Given the description of an element on the screen output the (x, y) to click on. 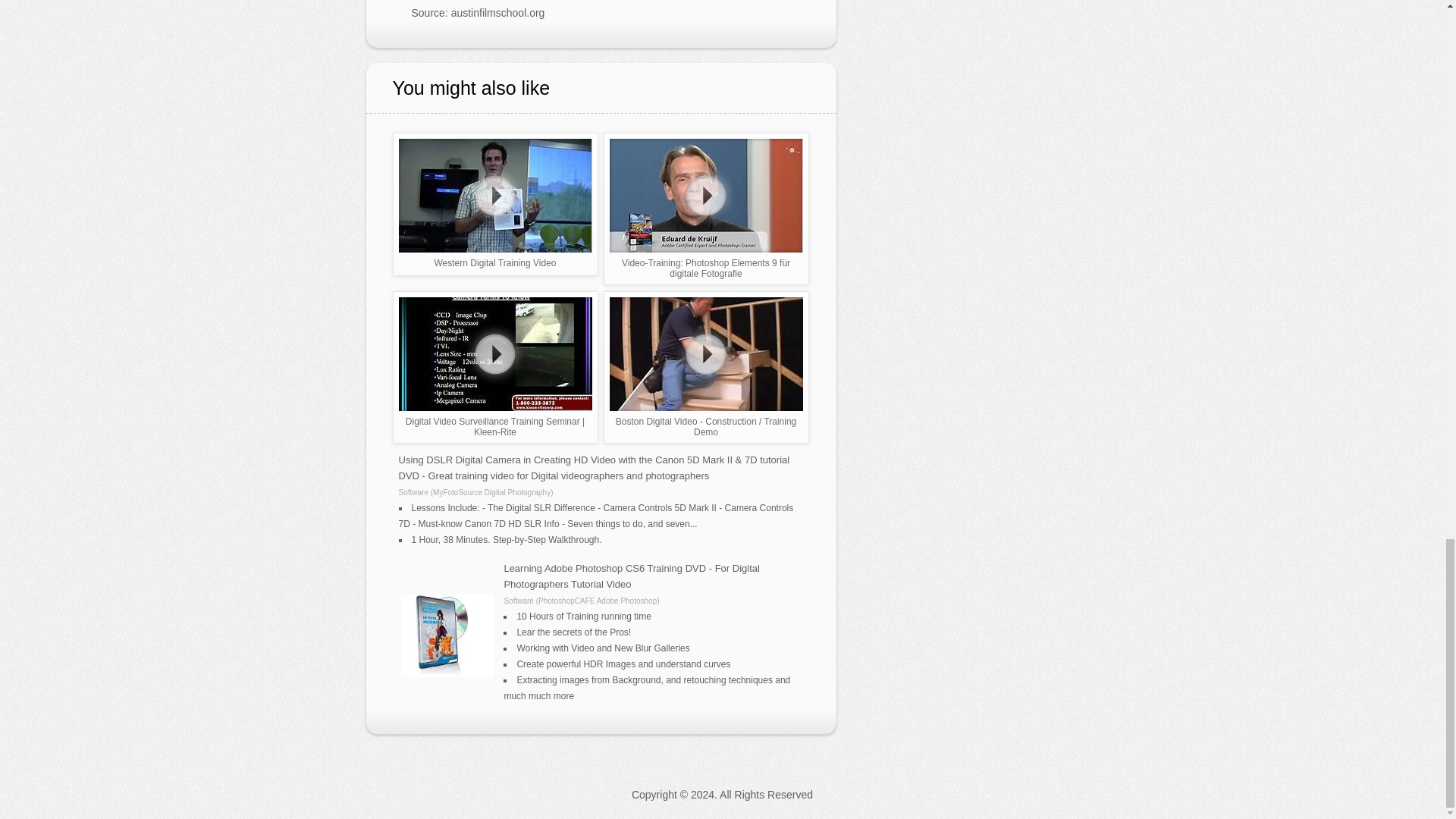
View this video from YouTube (706, 367)
View this video from YouTube (495, 204)
View this video from WN (495, 367)
View this video from YouTube (706, 208)
